Given the description of an element on the screen output the (x, y) to click on. 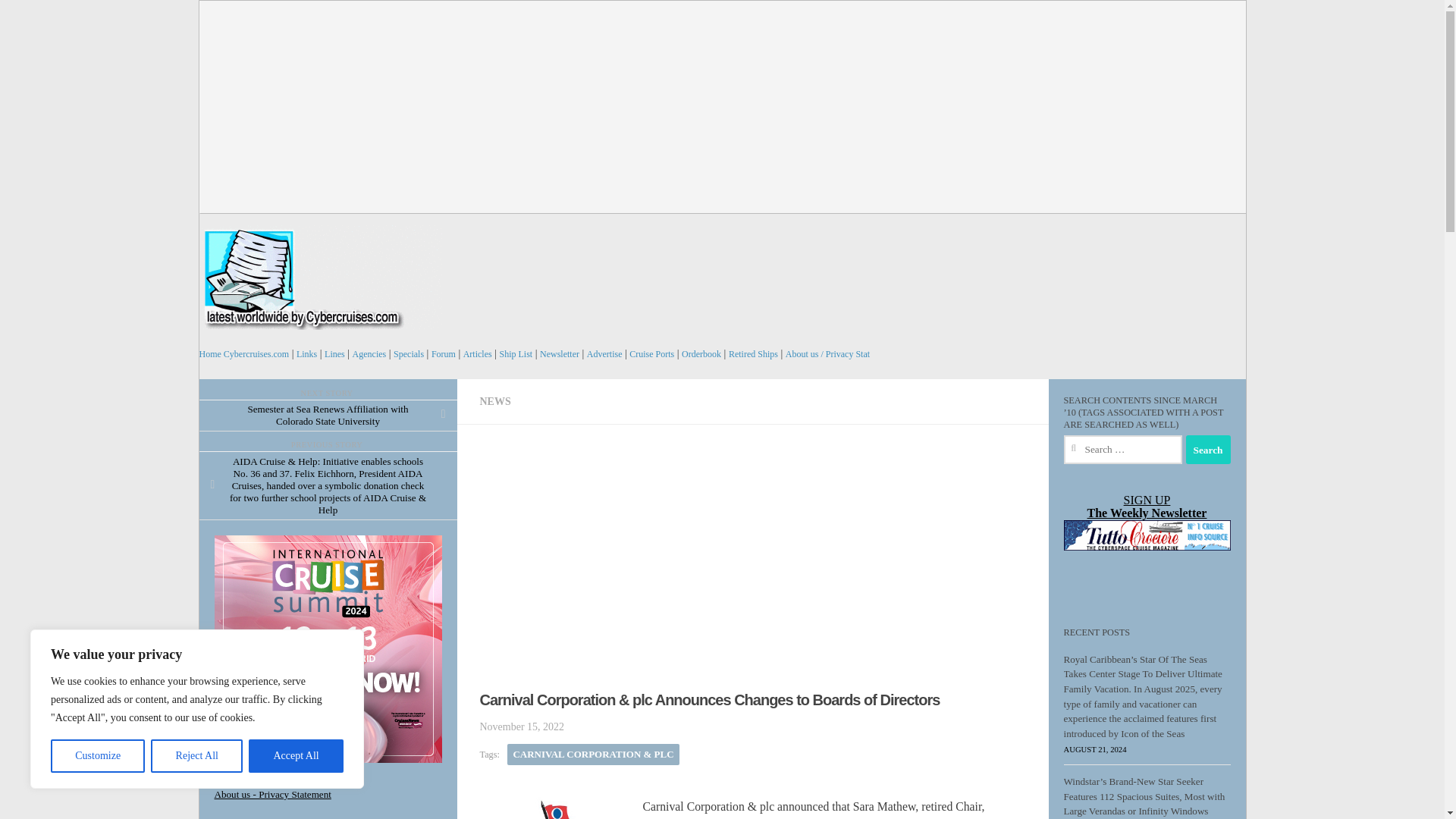
Ship List (515, 353)
Specials (408, 353)
Accept All (295, 756)
International Cruise Summit 2024 (333, 648)
Orderbook (700, 353)
Cruise Ports (651, 353)
Lines (334, 353)
Skip to content (253, 20)
Advertise (604, 353)
Retired Ships (753, 353)
